Given the description of an element on the screen output the (x, y) to click on. 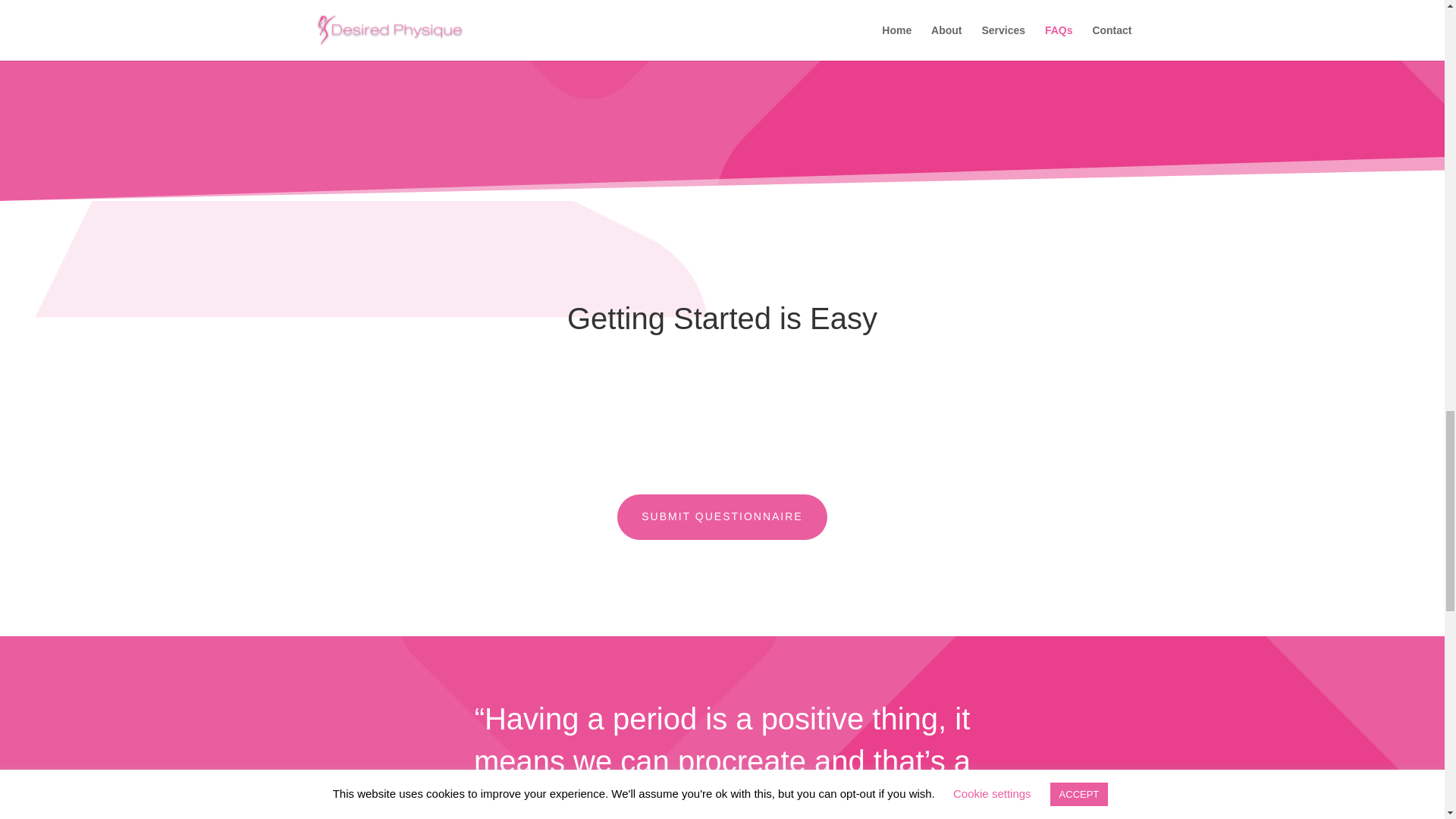
SUBMIT QUESTIONNAIRE (722, 516)
